Given the description of an element on the screen output the (x, y) to click on. 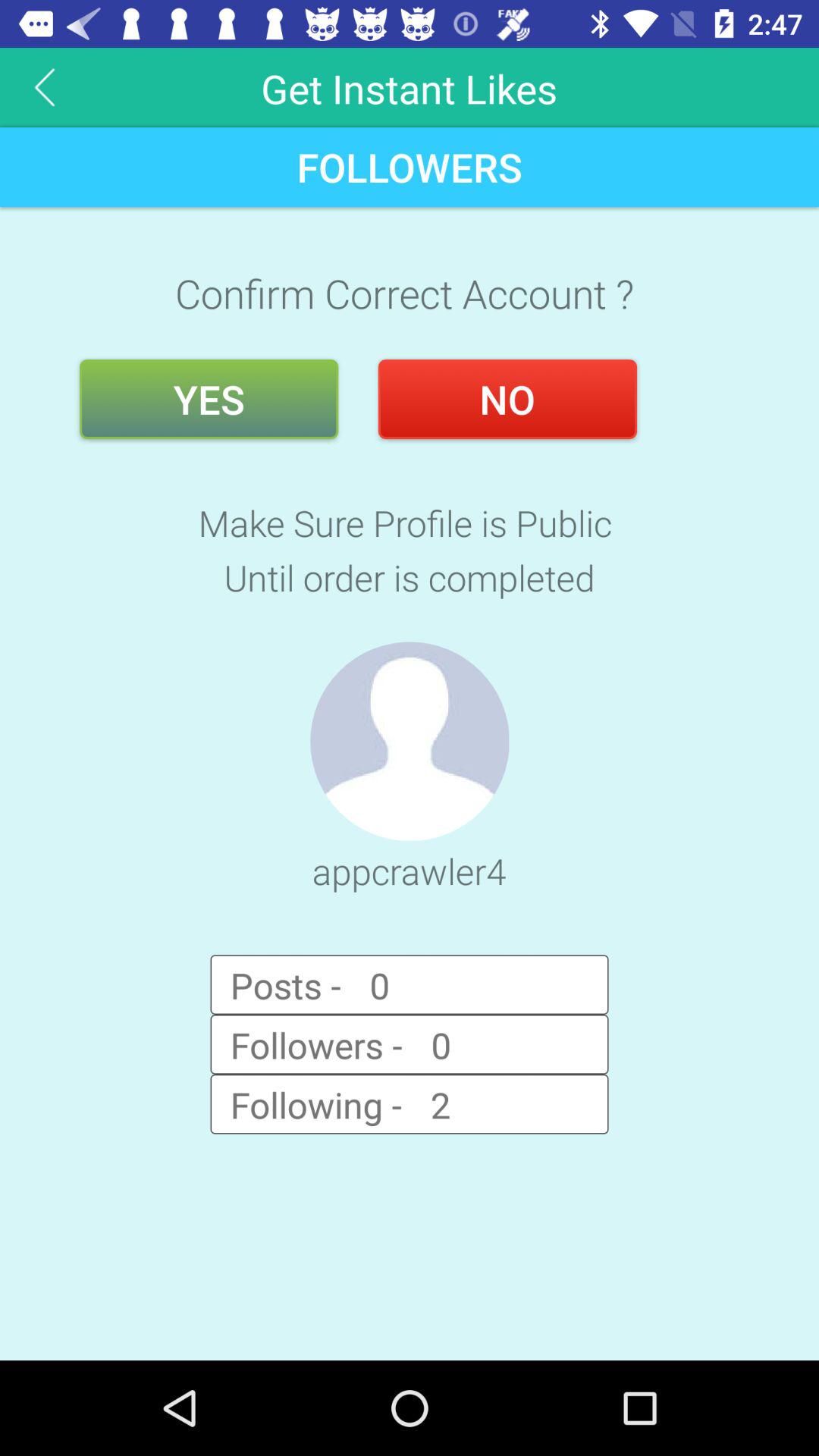
select the app to the left of get instant likes app (44, 87)
